Given the description of an element on the screen output the (x, y) to click on. 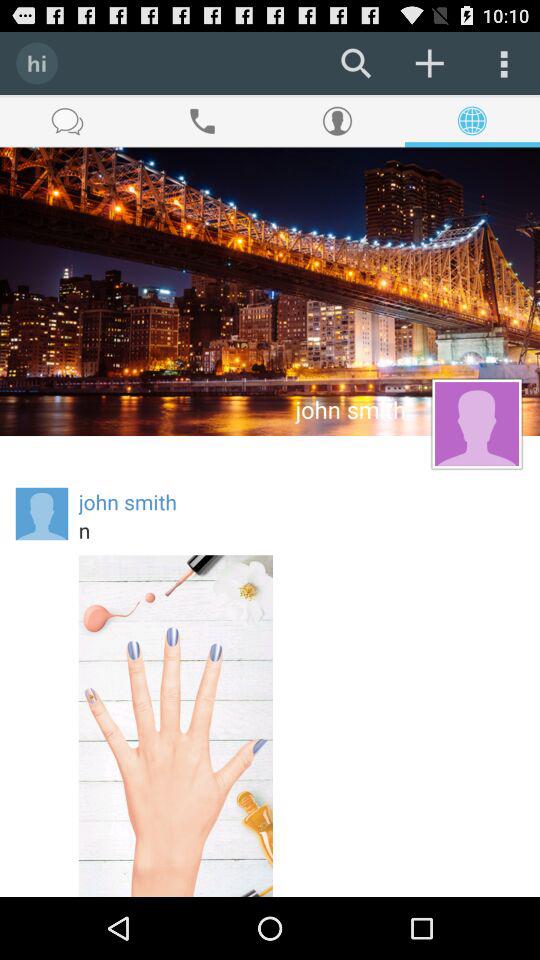
tap the n item (301, 530)
